Given the description of an element on the screen output the (x, y) to click on. 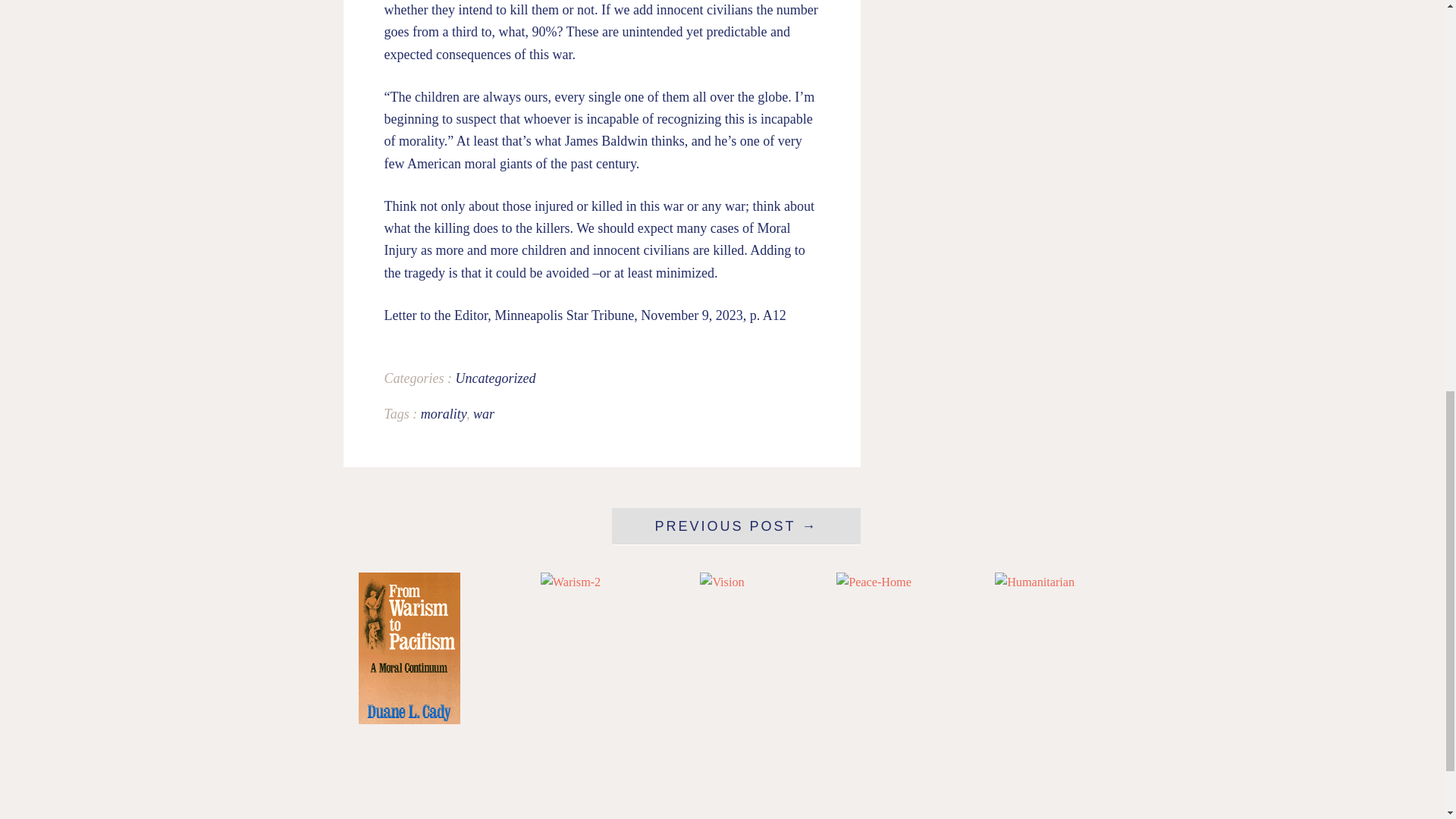
Uncategorized (494, 378)
morality (442, 413)
war (484, 413)
Warism-2 (569, 581)
Humanitarian (1034, 581)
Warism (409, 720)
Peace-Home (873, 581)
Vision (722, 581)
